Given the description of an element on the screen output the (x, y) to click on. 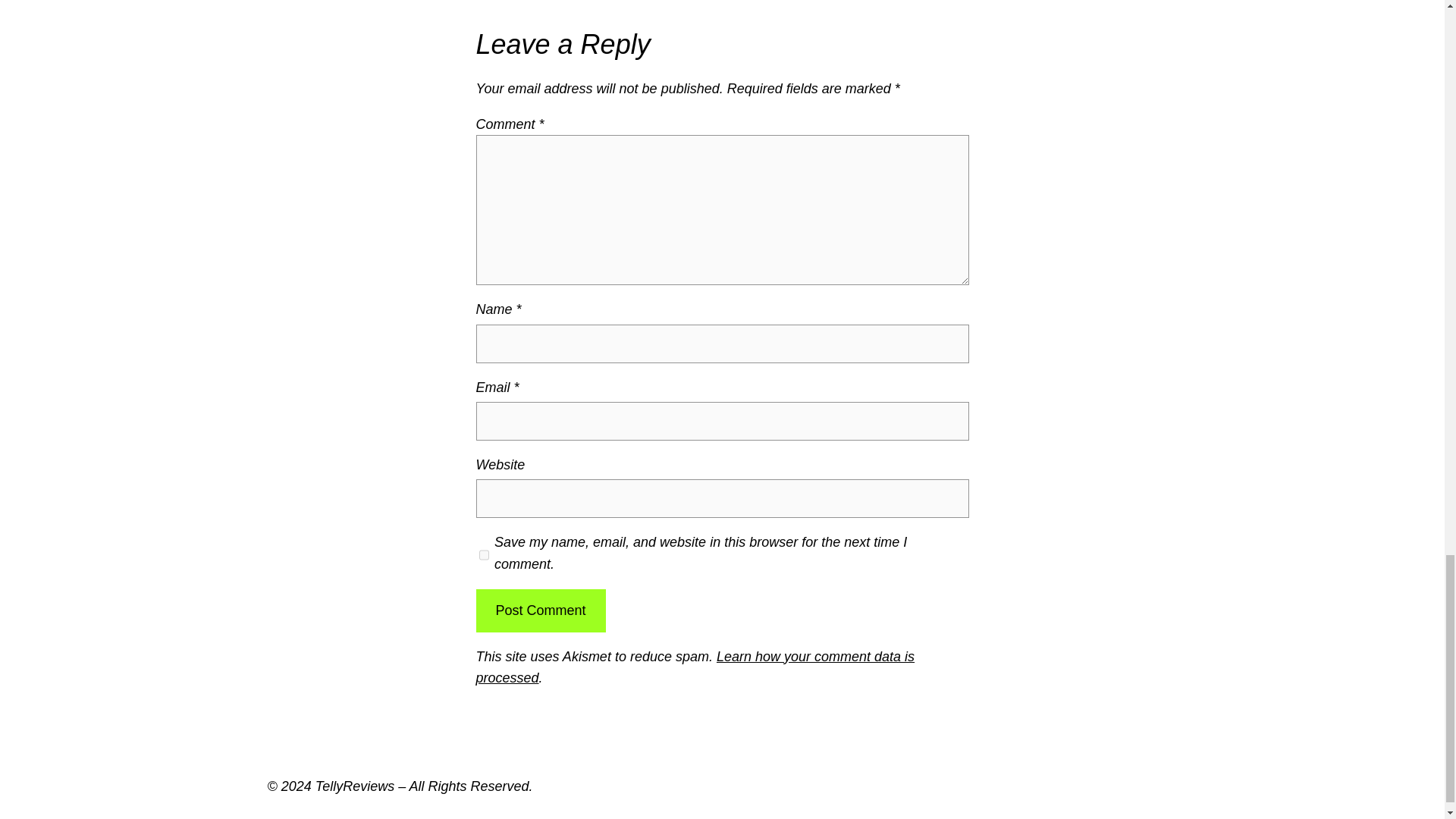
Learn how your comment data is processed (695, 667)
Post Comment (540, 610)
Post Comment (540, 610)
